Given the description of an element on the screen output the (x, y) to click on. 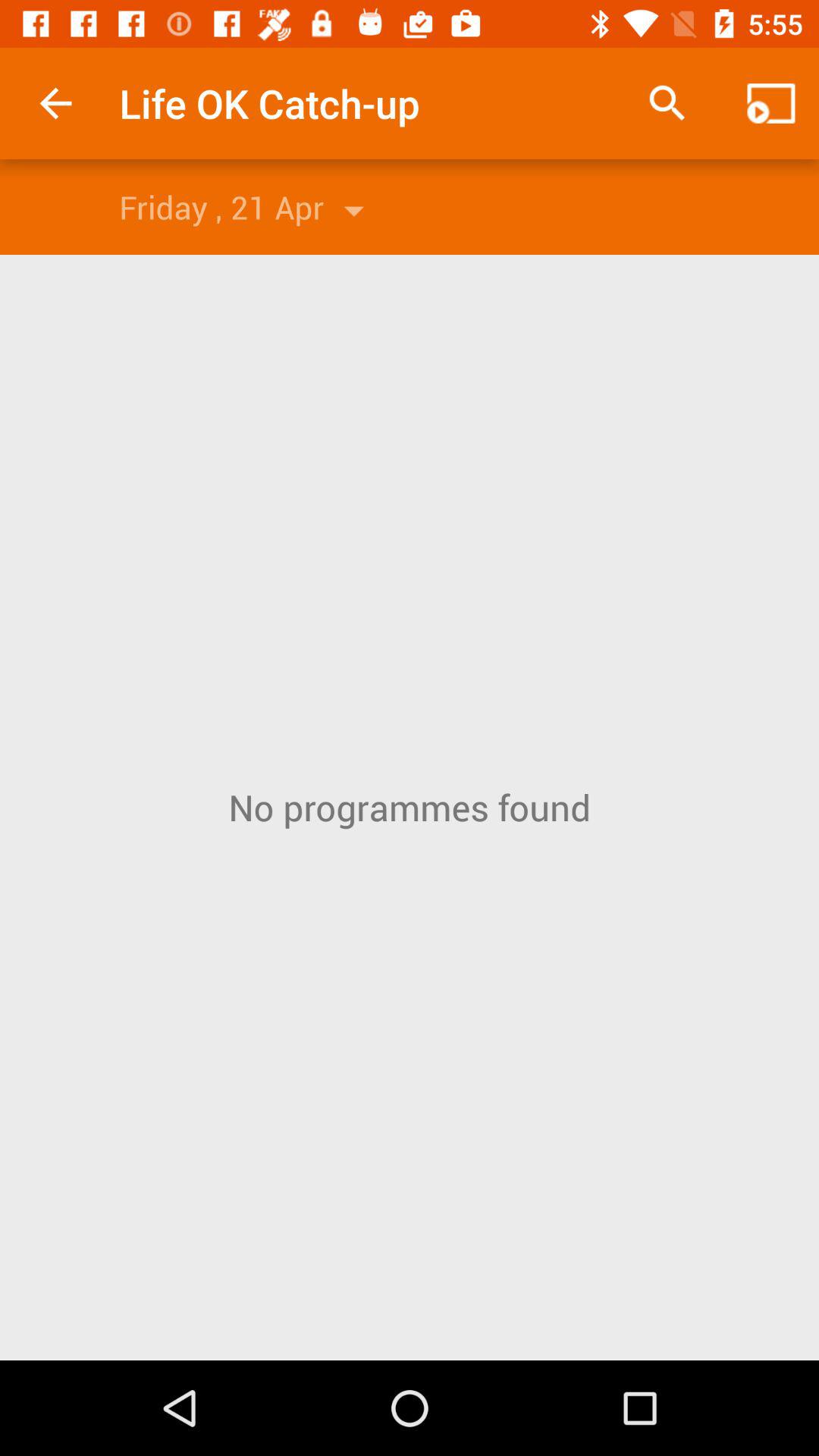
tap app to the right of the life ok catch item (667, 103)
